Given the description of an element on the screen output the (x, y) to click on. 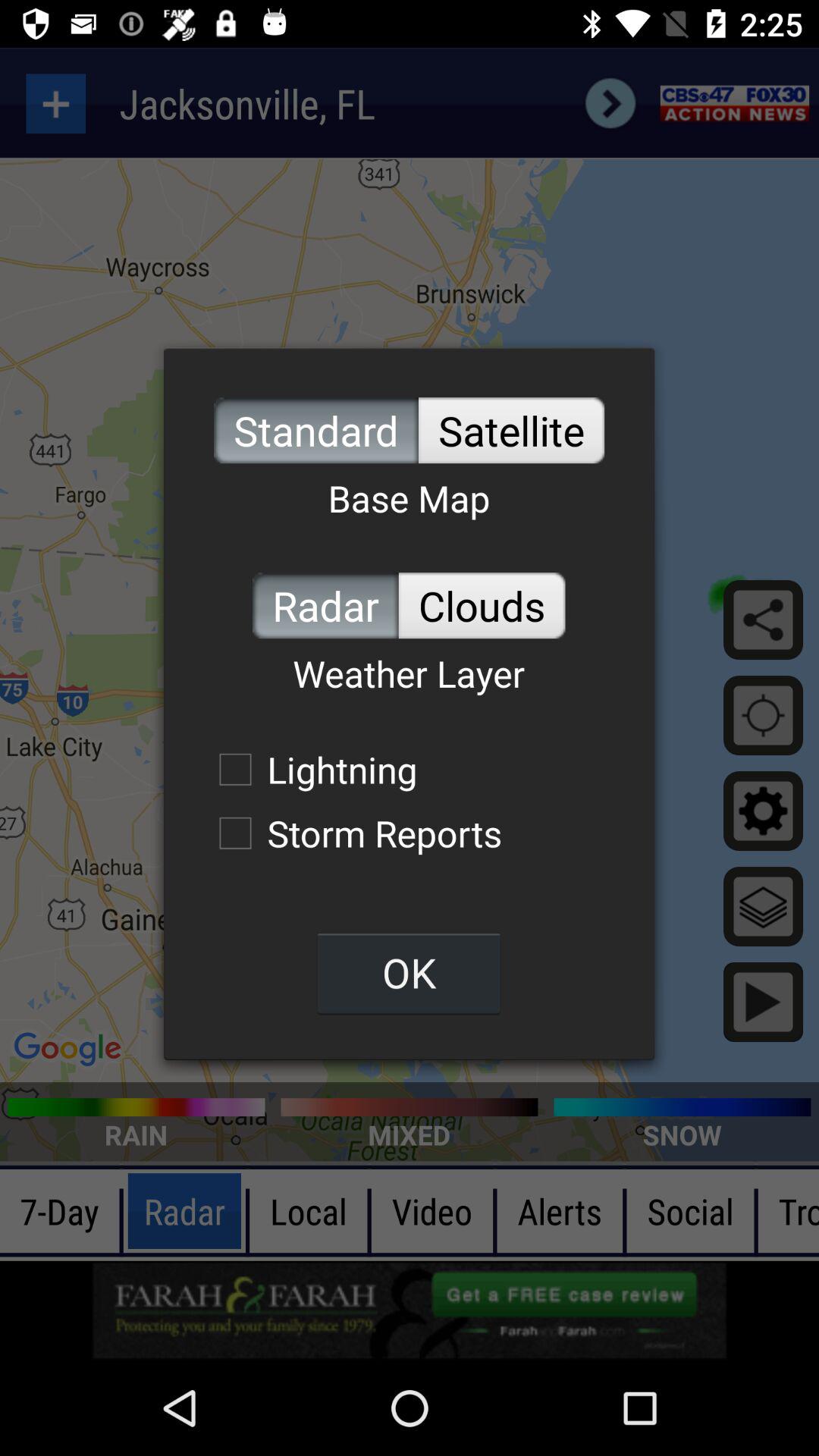
click the icon above weather layer item (325, 605)
